Given the description of an element on the screen output the (x, y) to click on. 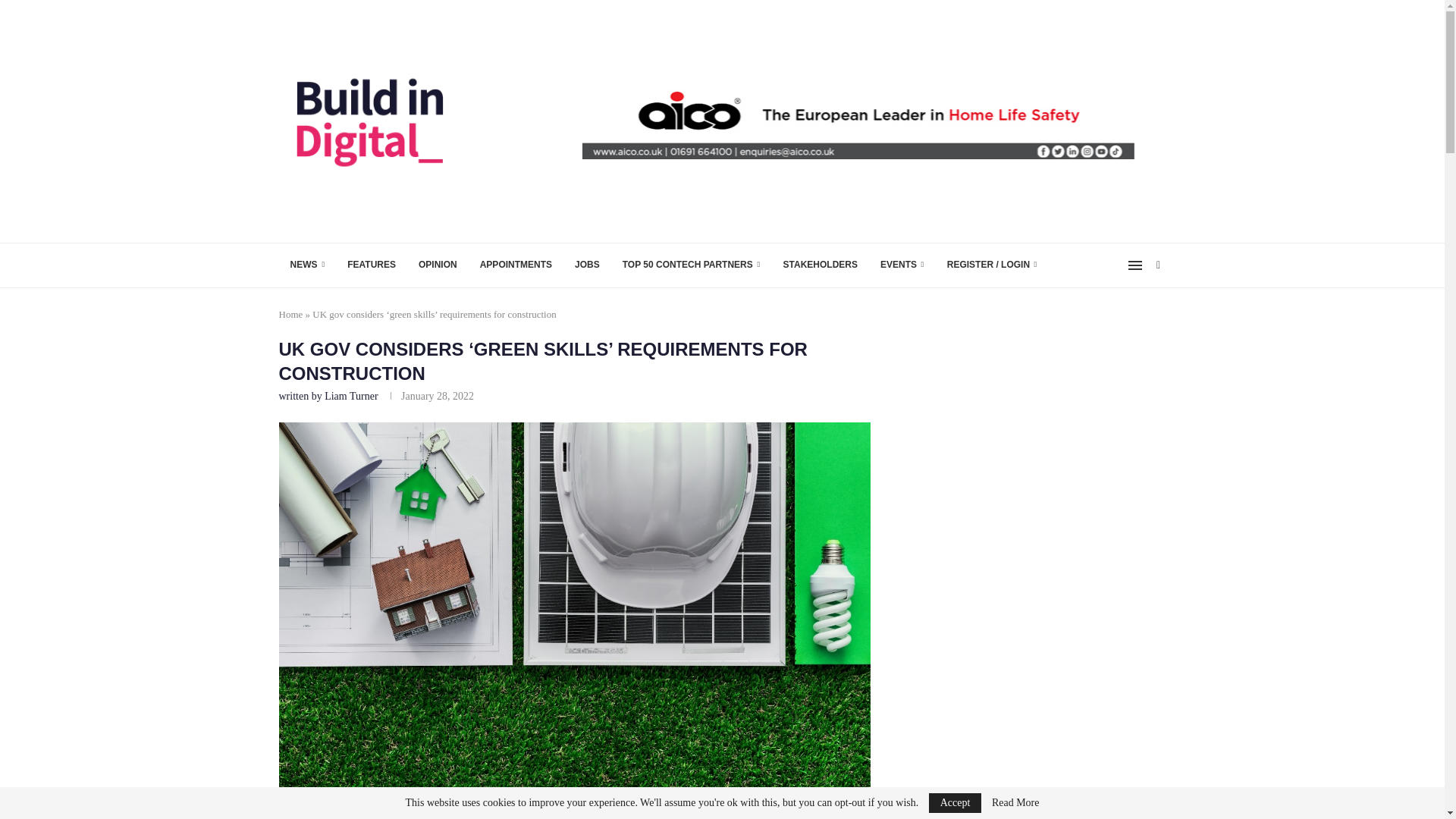
STAKEHOLDERS (820, 265)
APPOINTMENTS (515, 265)
OPINION (437, 265)
NEWS (307, 265)
JOBS (587, 265)
EVENTS (902, 265)
Home (290, 314)
Liam Turner (350, 396)
TOP 50 CONTECH PARTNERS (691, 265)
FEATURES (371, 265)
